Given the description of an element on the screen output the (x, y) to click on. 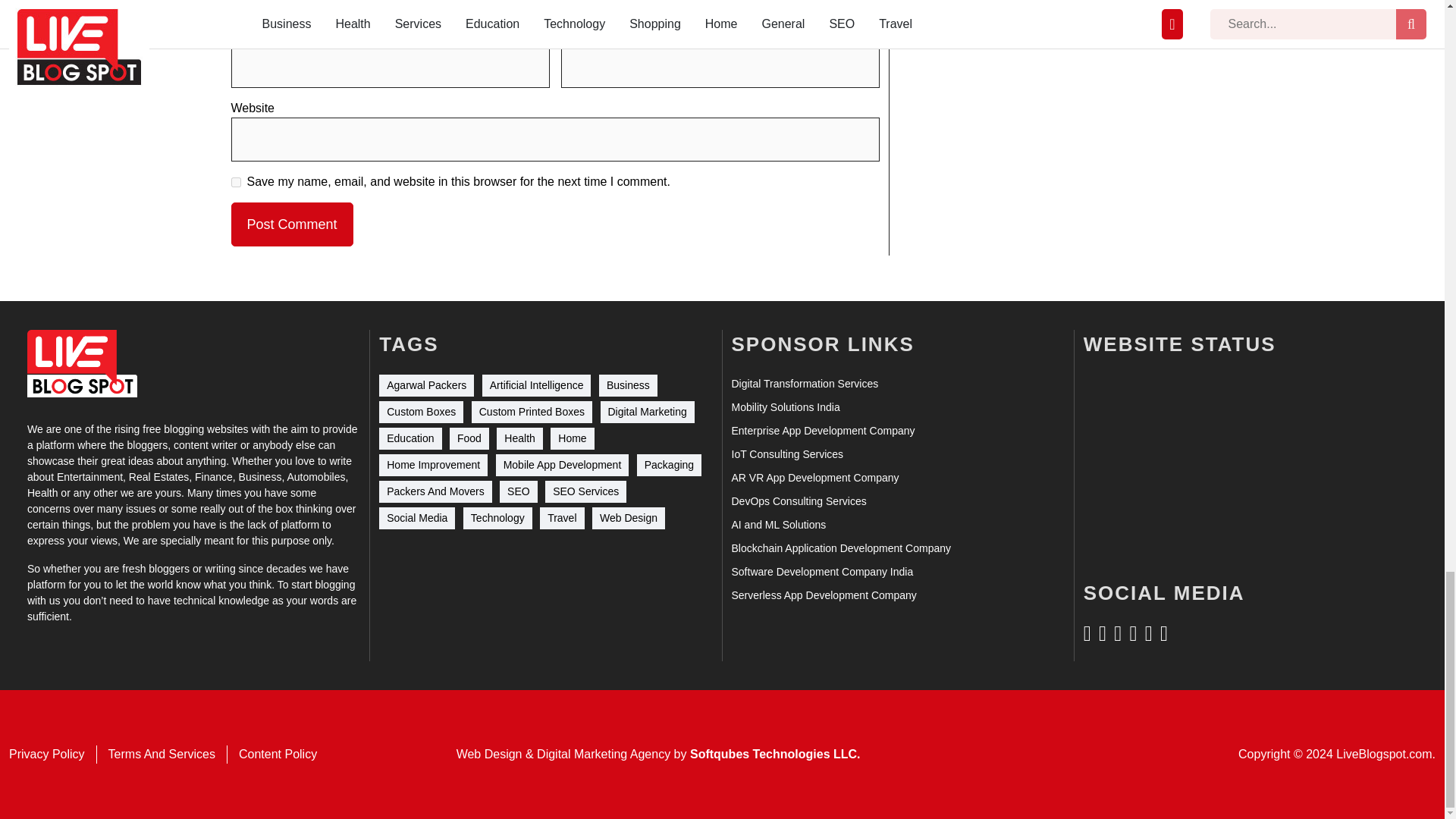
AR VR App Development Company (814, 478)
Live Blog Spot (81, 363)
yes (235, 182)
Mobility Solutions India (785, 407)
Digital Transformation Services (803, 383)
Post Comment (291, 224)
Enterprise App Development Company (822, 430)
IoT Consulting Services (786, 454)
Post Comment (291, 224)
